Given the description of an element on the screen output the (x, y) to click on. 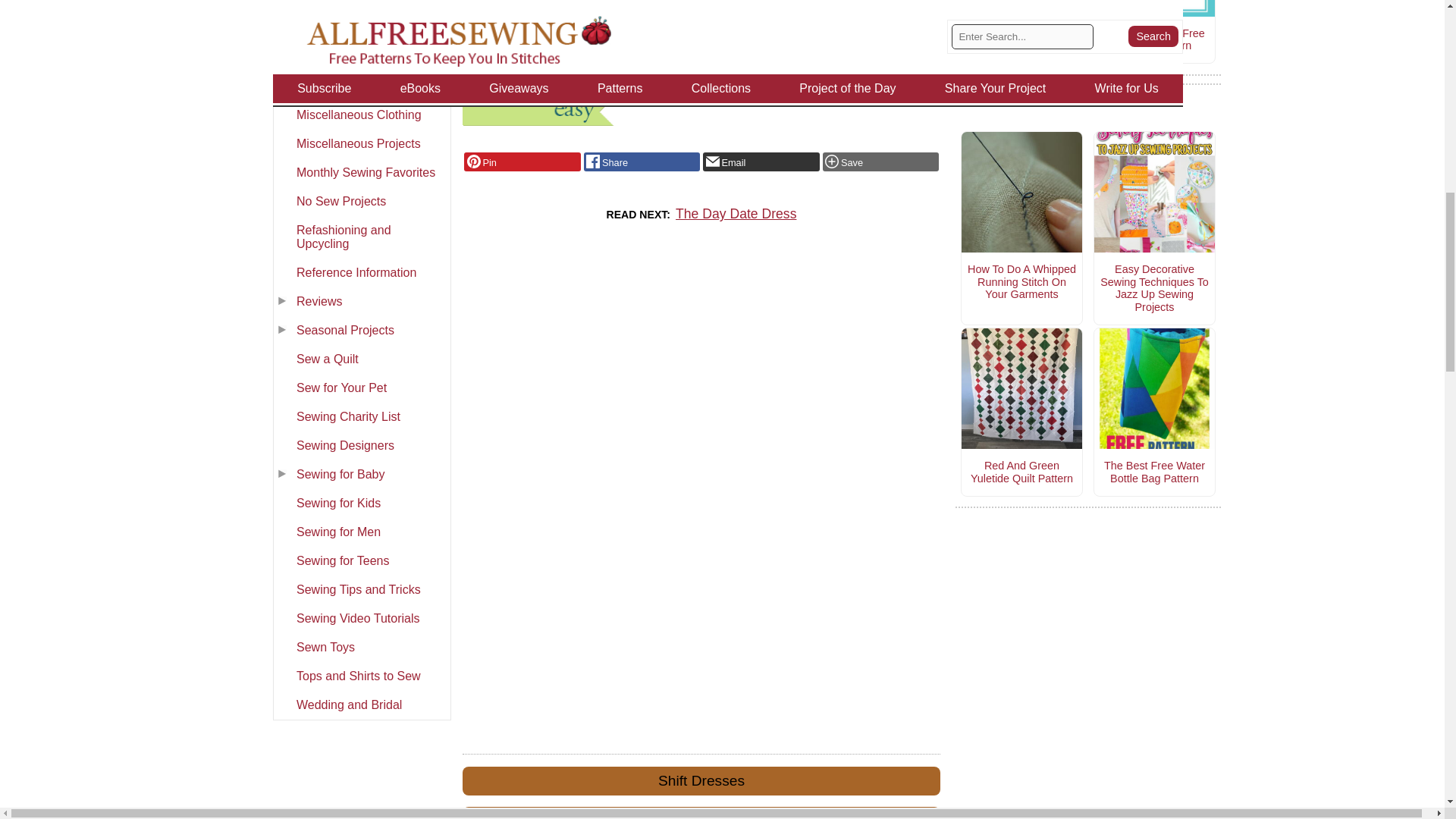
Add (880, 161)
Facebook (641, 161)
Insticator Content Engagement Unit (701, 389)
Email (761, 161)
